Given the description of an element on the screen output the (x, y) to click on. 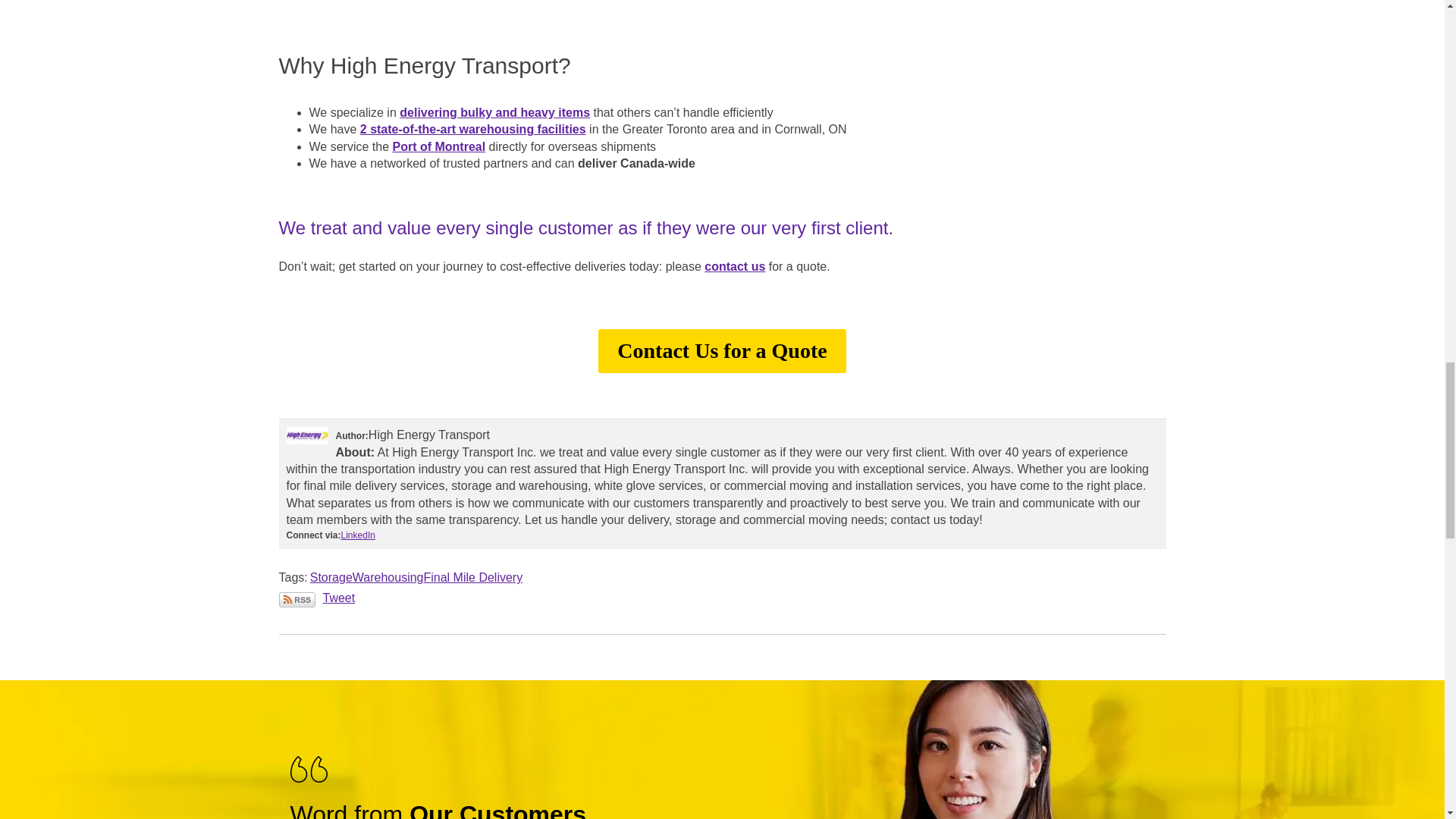
LinkedIn (357, 534)
Subscribe via RSS (297, 599)
Port of Montreal (437, 146)
Show posts in Final Mile Delivery (472, 576)
Tweet (339, 597)
Storage (331, 576)
Share it on Twitter (339, 597)
Show posts in Storage (331, 576)
Show posts in Warehousing (387, 576)
Subscribe via RSS (297, 599)
